Given the description of an element on the screen output the (x, y) to click on. 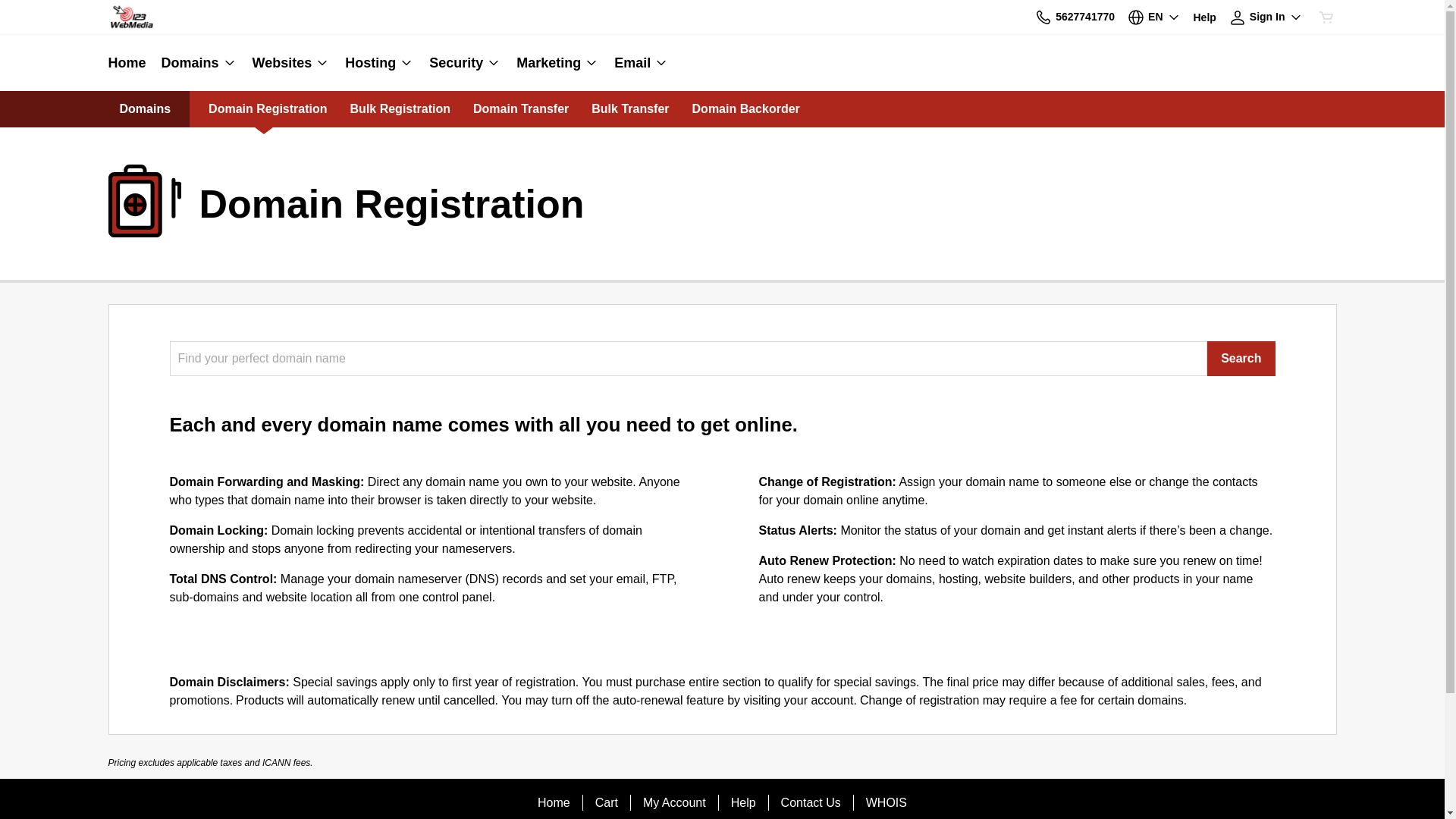
Sign In Element type: text (1265, 17)
5627741770 Element type: text (1074, 17)
Bulk Registration Element type: text (400, 108)
Cart Element type: text (606, 802)
Contact Us Element type: hover (1043, 17)
My Account Element type: text (674, 802)
Search Element type: text (1240, 358)
Home Element type: text (130, 62)
Security Element type: text (464, 62)
Hosting Element type: text (379, 62)
Bulk Transfer Element type: text (629, 108)
Domains Element type: text (198, 62)
Domain Backorder Element type: text (746, 108)
Help Element type: text (743, 802)
Help Element type: text (1204, 17)
Marketing Element type: text (557, 62)
Contact Us Element type: text (810, 802)
EN Element type: text (1153, 17)
WHOIS Element type: text (886, 802)
Home Element type: text (553, 802)
Domain Registration Element type: text (267, 108)
Email Element type: text (637, 62)
Websites Element type: text (291, 62)
Domain Transfer Element type: text (520, 108)
